Given the description of an element on the screen output the (x, y) to click on. 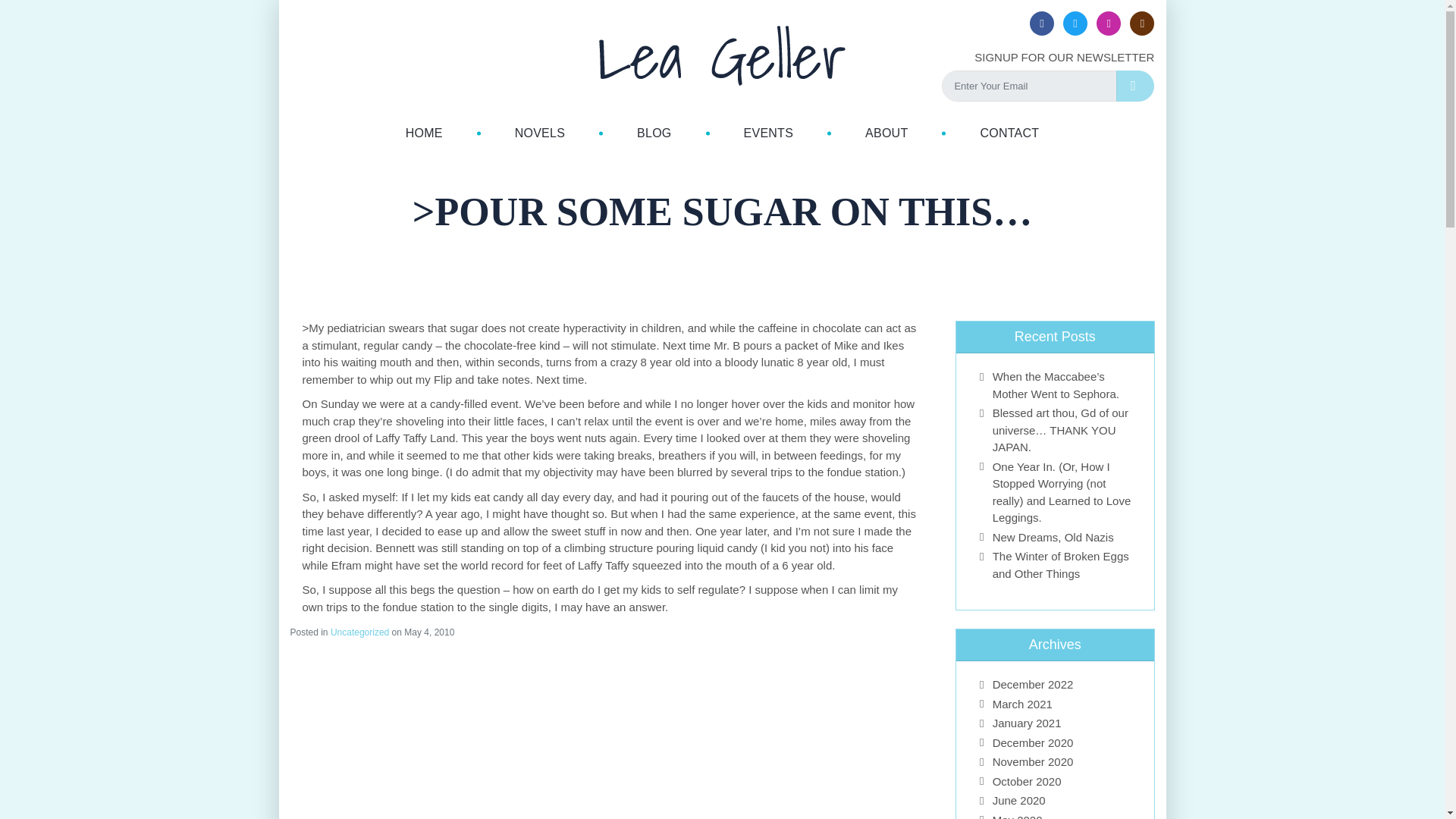
May 2020 (1017, 816)
CONTACT (1008, 132)
The Winter of Broken Eggs and Other Things (1060, 564)
Events (768, 132)
Contact (1008, 132)
BLOG (654, 132)
Home (423, 132)
Novels (540, 132)
December 2022 (1033, 684)
December 2020 (1033, 742)
June 2020 (1018, 799)
January 2021 (1026, 722)
November 2020 (1033, 761)
October 2020 (1026, 780)
March 2021 (1022, 703)
